Given the description of an element on the screen output the (x, y) to click on. 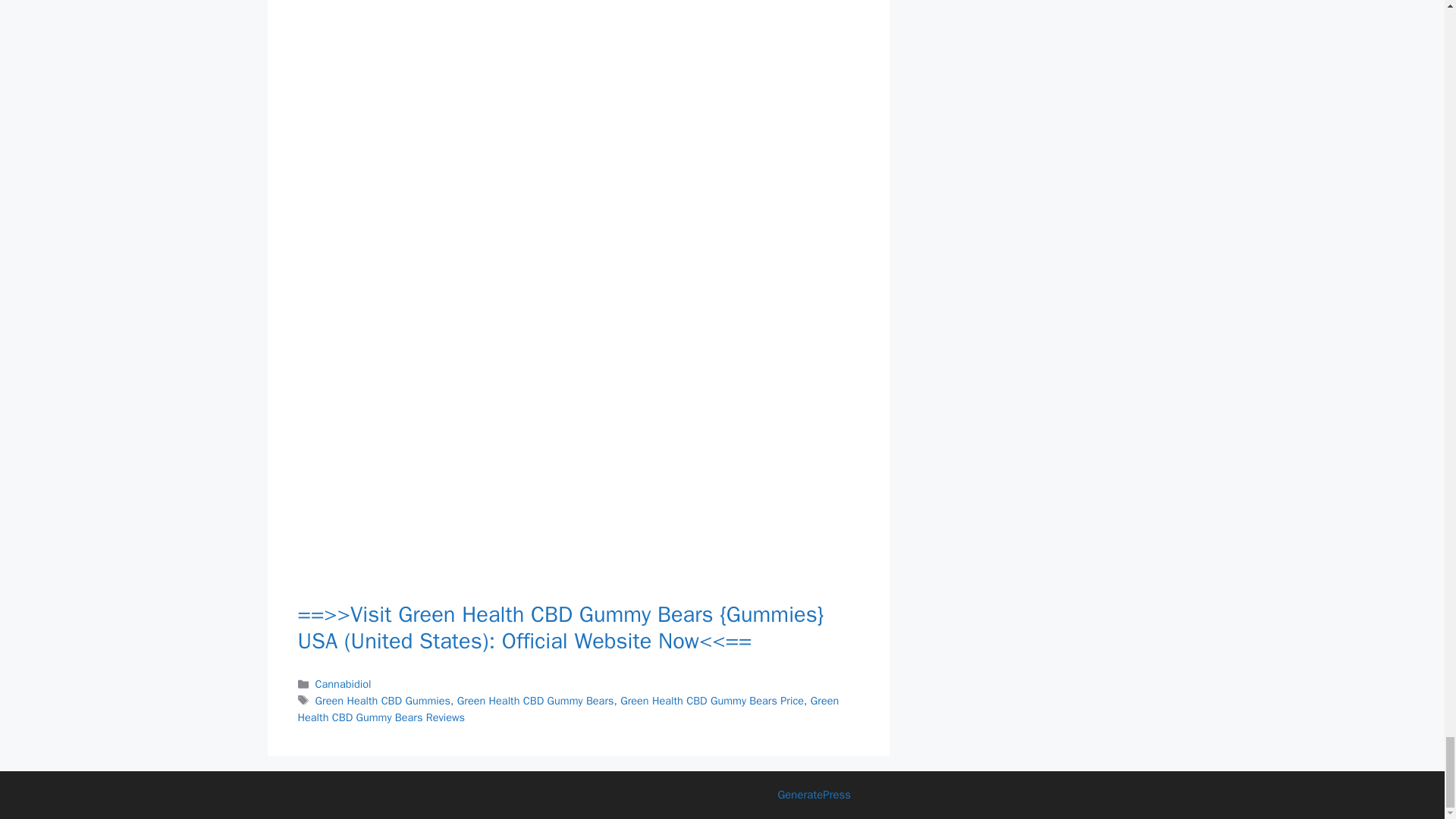
Green Health CBD Gummy Bears Reviews (567, 708)
Green Health CBD Gummies (382, 700)
Green Health CBD Gummy Bears Price (711, 700)
Green Health CBD Gummy Bears (535, 700)
Cannabidiol (343, 684)
